Given the description of an element on the screen output the (x, y) to click on. 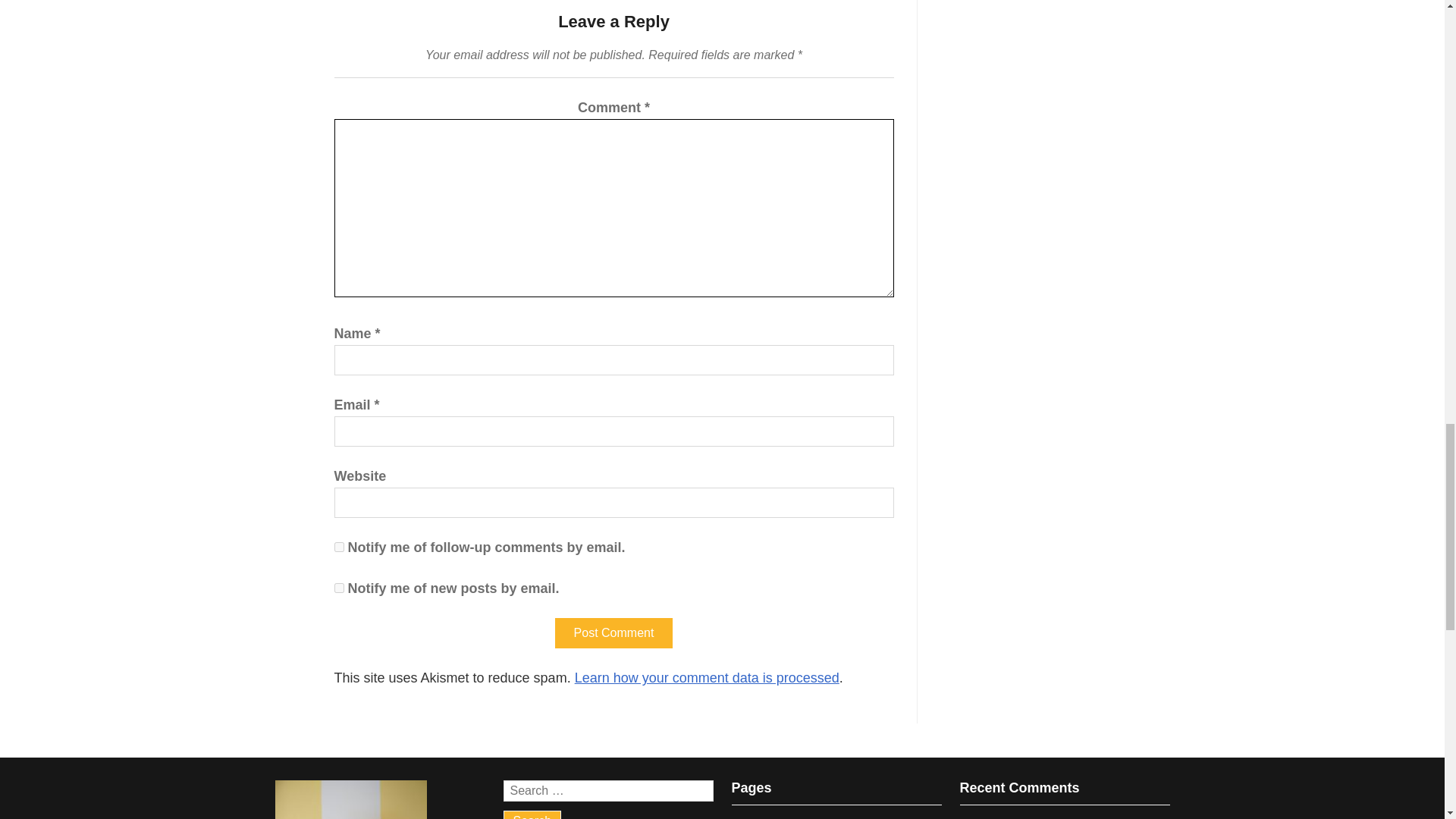
Search (532, 814)
Learn how your comment data is processed (707, 677)
subscribe (338, 547)
subscribe (338, 587)
Post Comment (613, 633)
Search (532, 814)
Post Comment (613, 633)
